Given the description of an element on the screen output the (x, y) to click on. 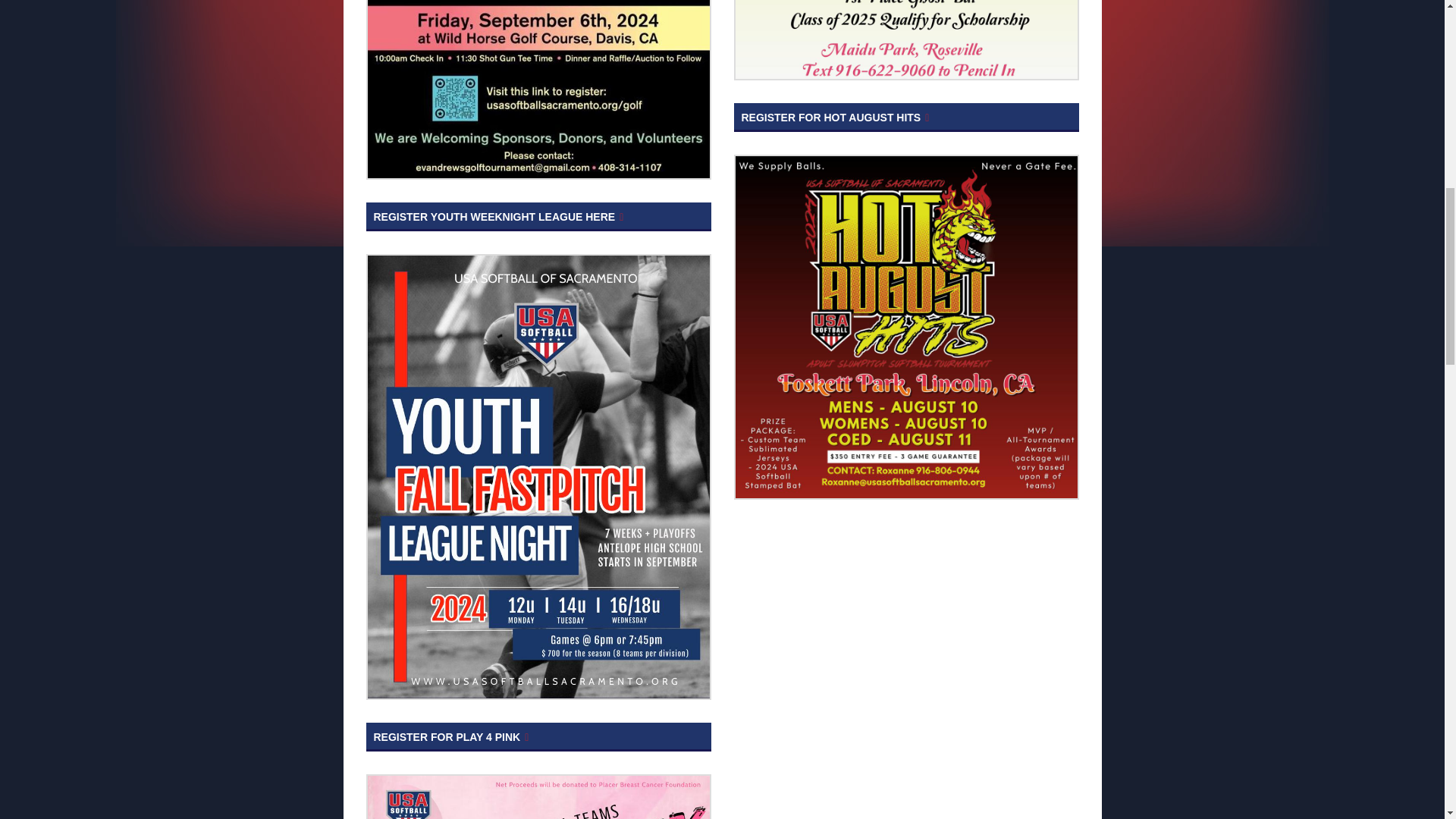
REGISTER FOR PLAY 4 PINK (537, 736)
REGISTER YOUTH WEEKNIGHT LEAGUE HERE (537, 216)
REGISTER FOR HOT AUGUST HITS (905, 117)
